Given the description of an element on the screen output the (x, y) to click on. 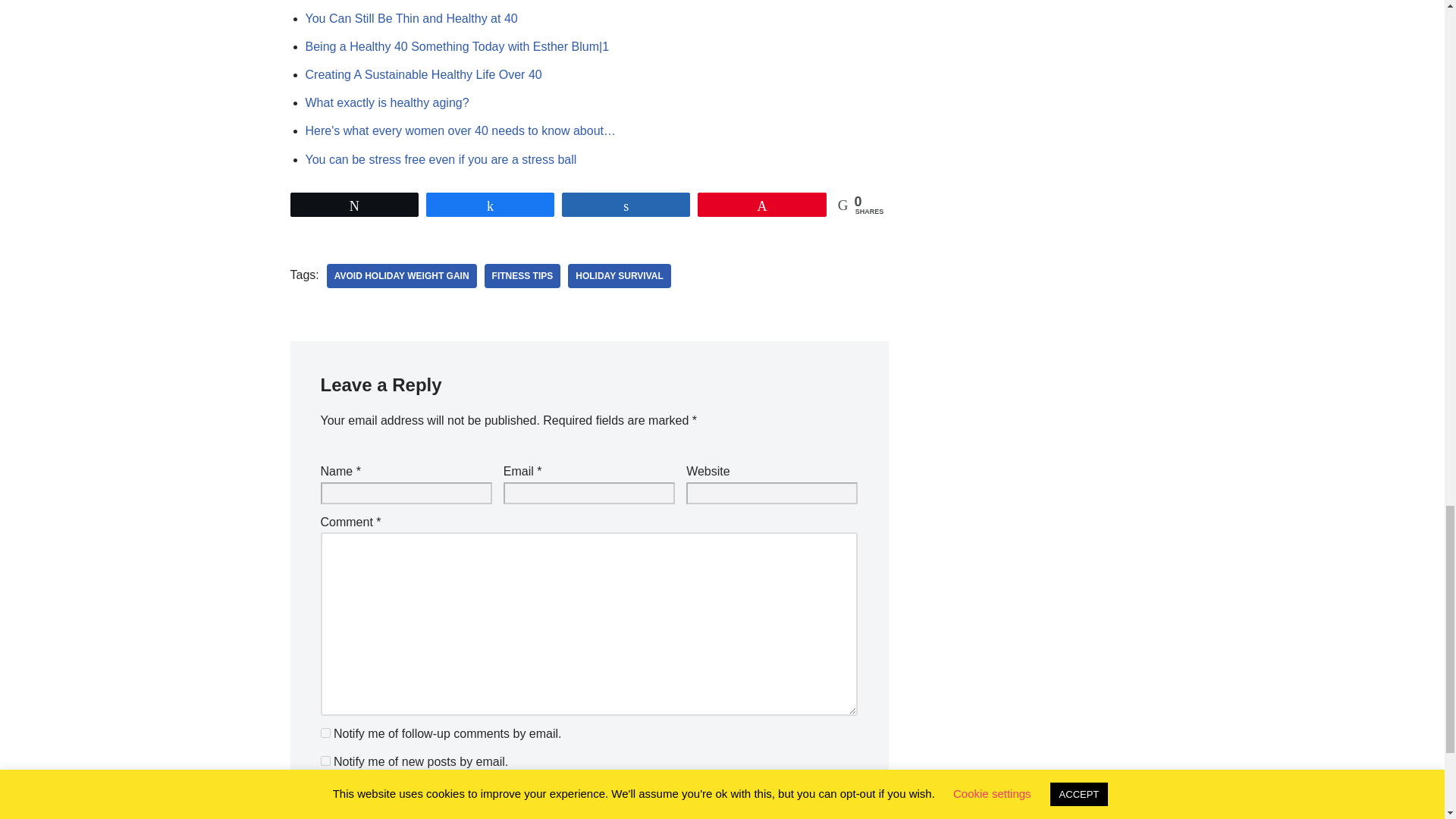
fitness tips (522, 275)
subscribe (325, 732)
Creating A Sustainable Healthy Life Over 40 (422, 74)
What exactly is healthy aging? (386, 102)
subscribe (325, 760)
holiday survival (619, 275)
Post Comment (374, 799)
avoid holiday weight gain (401, 275)
You can be stress free even if you are a stress ball (440, 159)
You Can Still Be Thin and Healthy at 40 (410, 18)
